Given the description of an element on the screen output the (x, y) to click on. 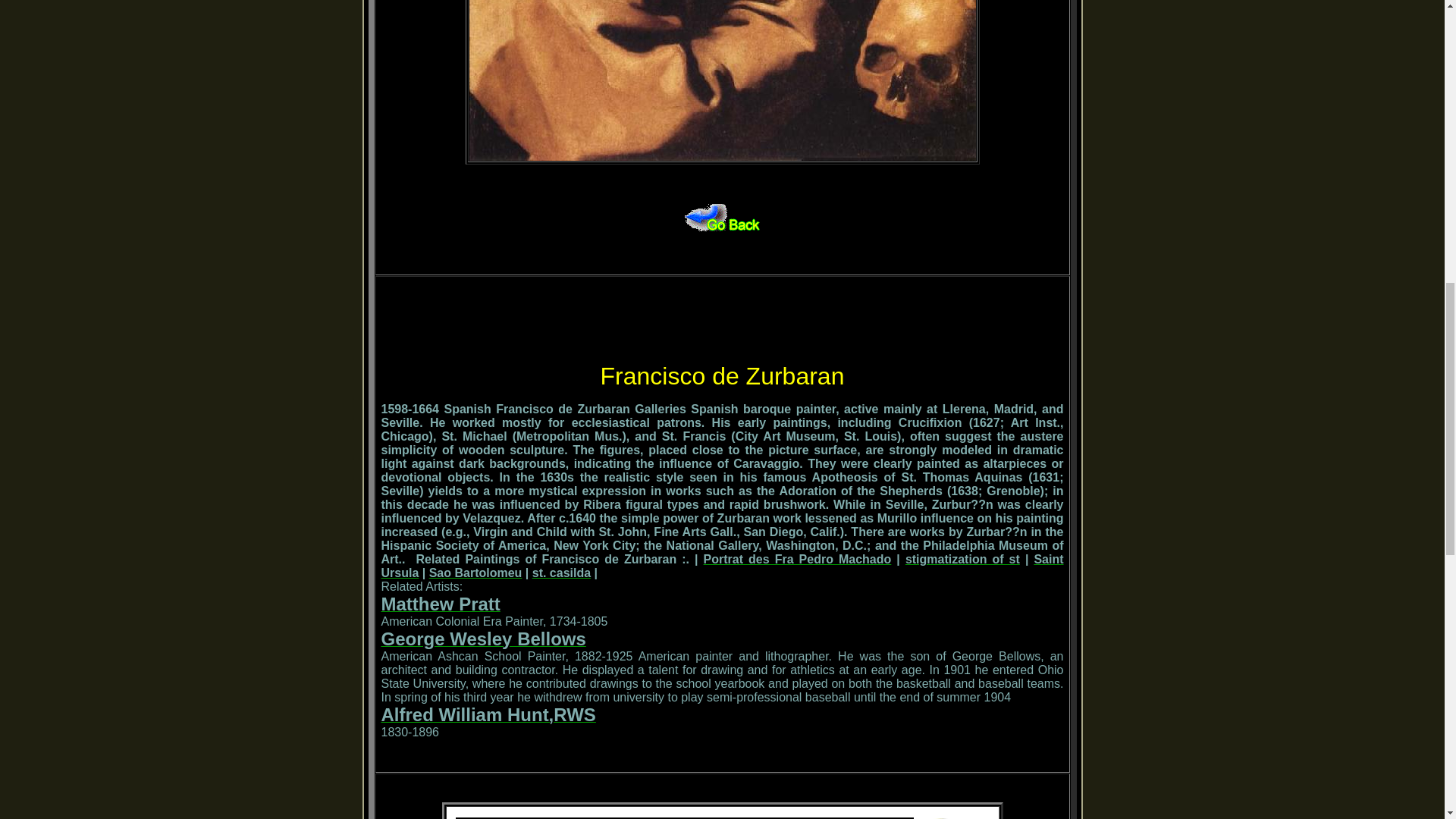
Alfred William Hunt,RWS (487, 716)
stigmatization of st (962, 558)
Sao Bartolomeu (475, 572)
st. casilda (561, 572)
Saint Ursula (721, 565)
George Wesley Bellows (482, 640)
Matthew Pratt (439, 605)
Portrat des Fra Pedro Machado (797, 558)
